Given the description of an element on the screen output the (x, y) to click on. 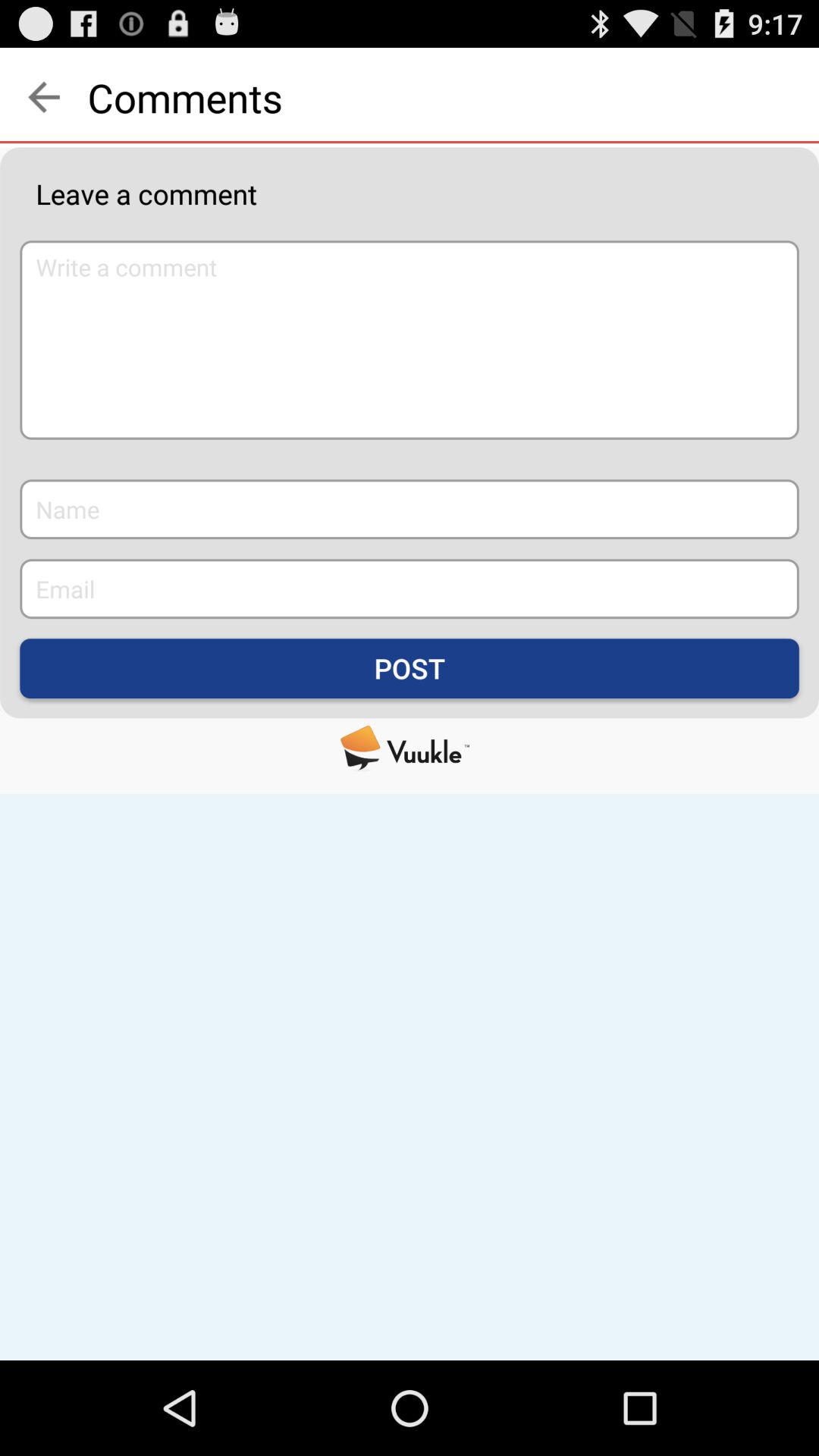
swipe until the post icon (409, 668)
